Given the description of an element on the screen output the (x, y) to click on. 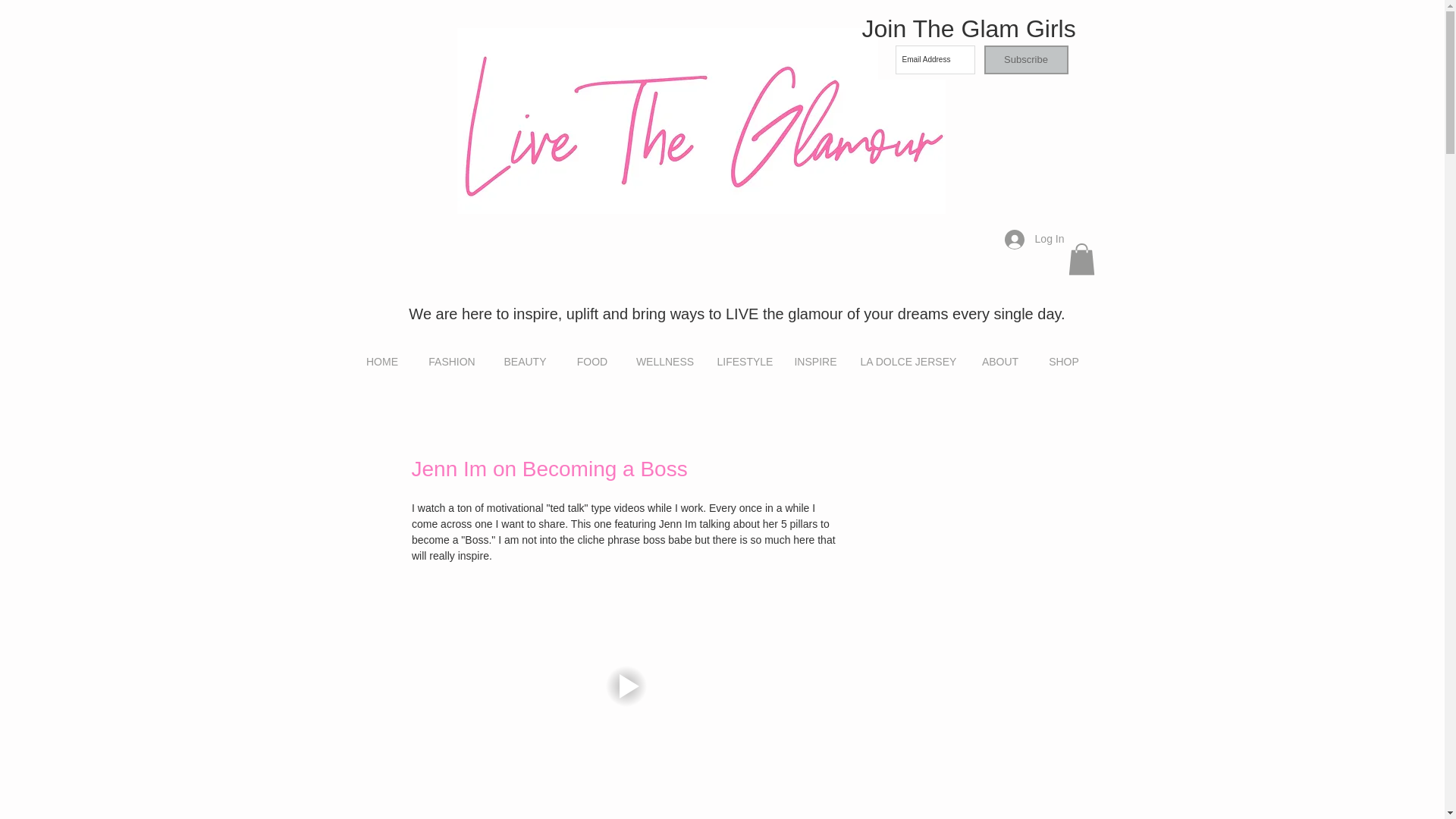
HOME (381, 361)
Subscribe (1026, 59)
ABOUT (999, 361)
Log In (1034, 238)
SHOP (1063, 361)
FASHION (451, 361)
FOOD (591, 361)
BEAUTY (524, 361)
LIFESTYLE (742, 361)
INSPIRE (815, 361)
